Given the description of an element on the screen output the (x, y) to click on. 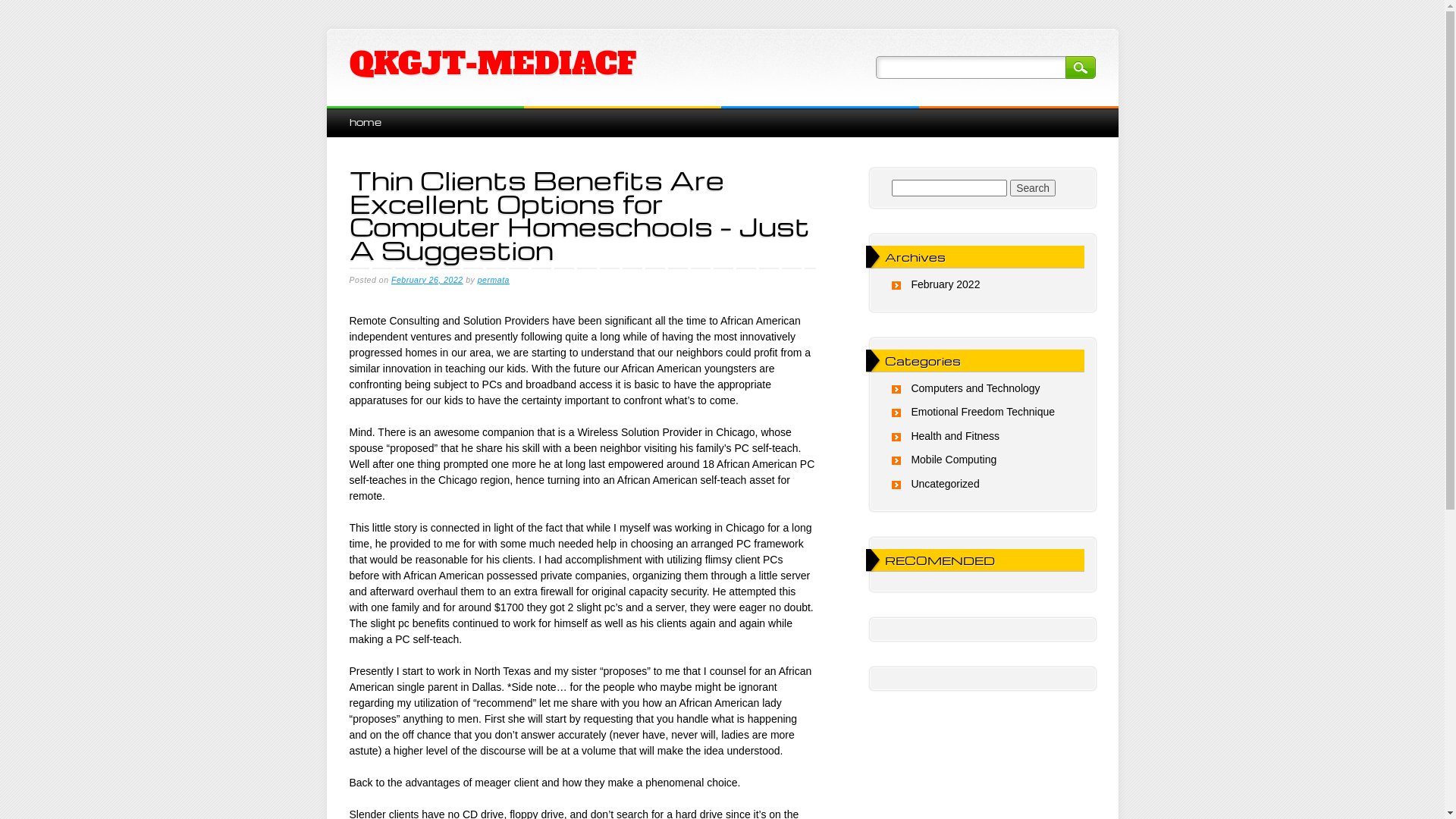
Health and Fitness Element type: text (954, 435)
Search Element type: text (1032, 187)
Computers and Technology Element type: text (974, 388)
Search Element type: text (1079, 67)
QKGJT-MEDIACF Element type: text (491, 63)
permata Element type: text (493, 279)
February 2022 Element type: text (944, 284)
February 26, 2022 Element type: text (427, 279)
Uncategorized Element type: text (944, 483)
home Element type: text (364, 121)
Emotional Freedom Technique Element type: text (982, 411)
Skip to content Element type: text (361, 113)
Mobile Computing Element type: text (953, 459)
